Given the description of an element on the screen output the (x, y) to click on. 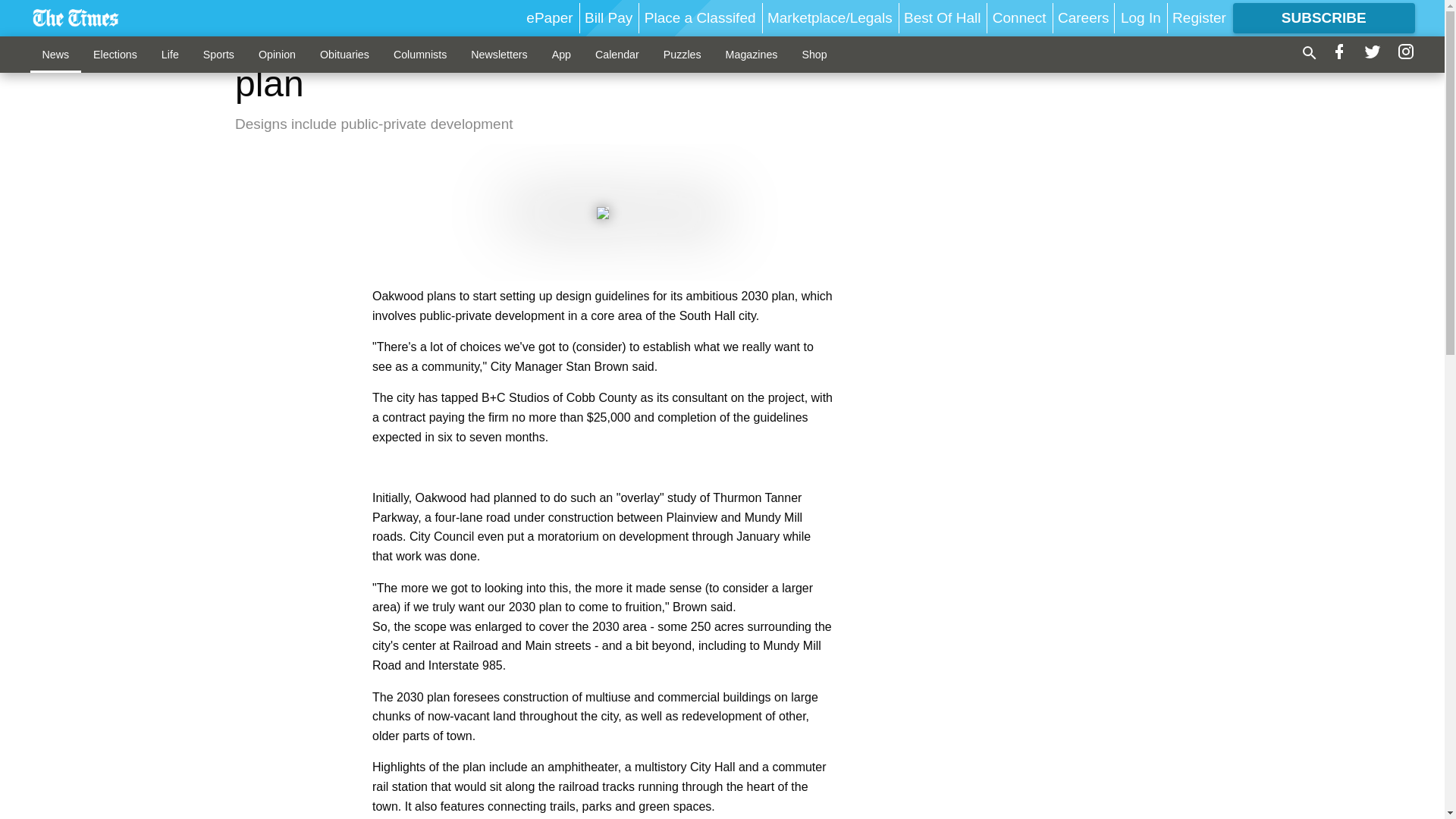
SUBSCRIBE (1324, 18)
Bill Pay (608, 17)
Register (1198, 17)
Place a Classifed (700, 17)
Careers (1083, 17)
Best Of Hall (941, 17)
Connect (1019, 17)
Log In (1140, 17)
ePaper (548, 17)
